Given the description of an element on the screen output the (x, y) to click on. 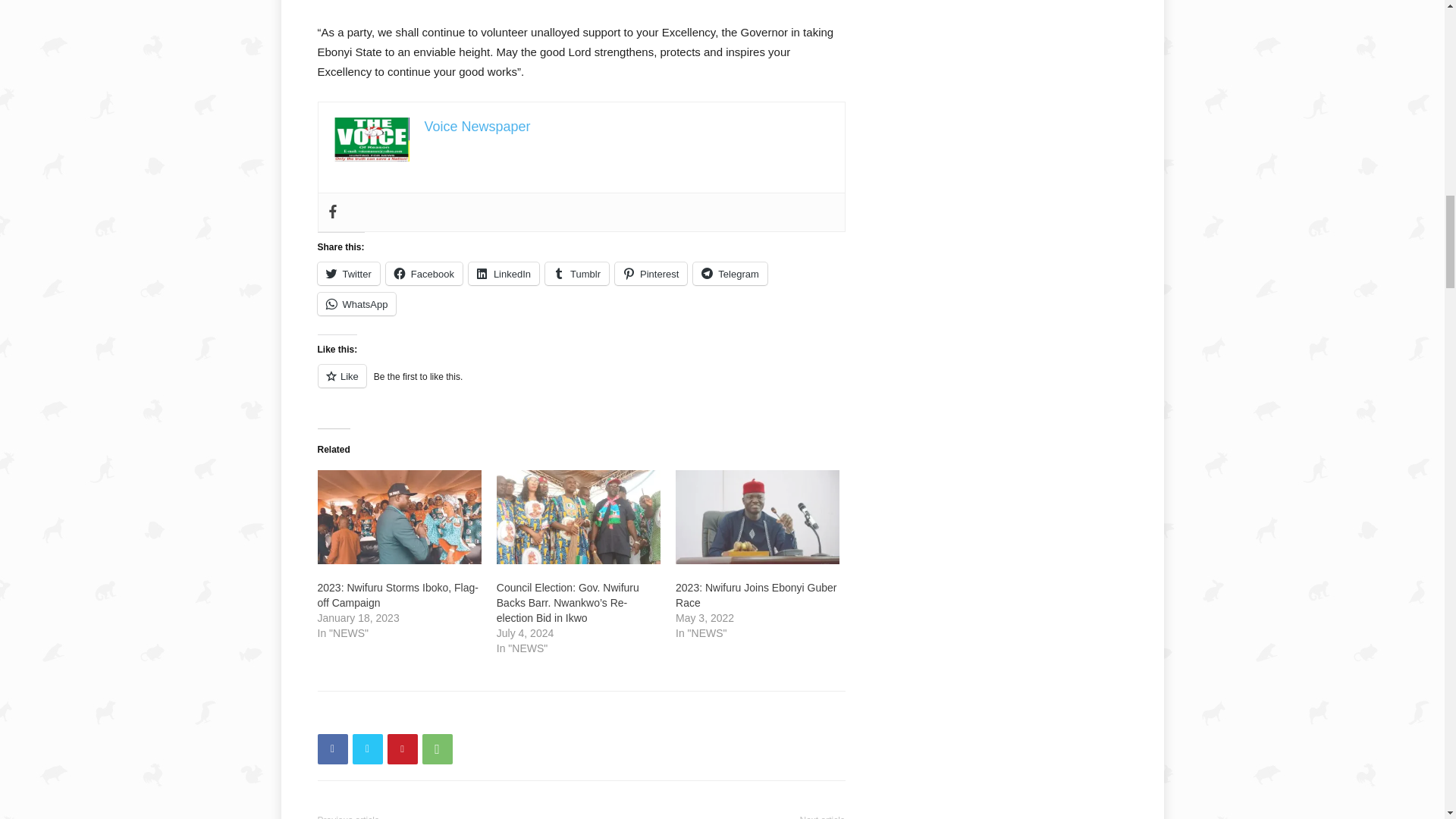
Click to share on Twitter (347, 273)
Click to share on Facebook (424, 273)
Click to share on Tumblr (576, 273)
Click to share on Pinterest (650, 273)
Click to share on LinkedIn (503, 273)
Facebook (332, 212)
